Given the description of an element on the screen output the (x, y) to click on. 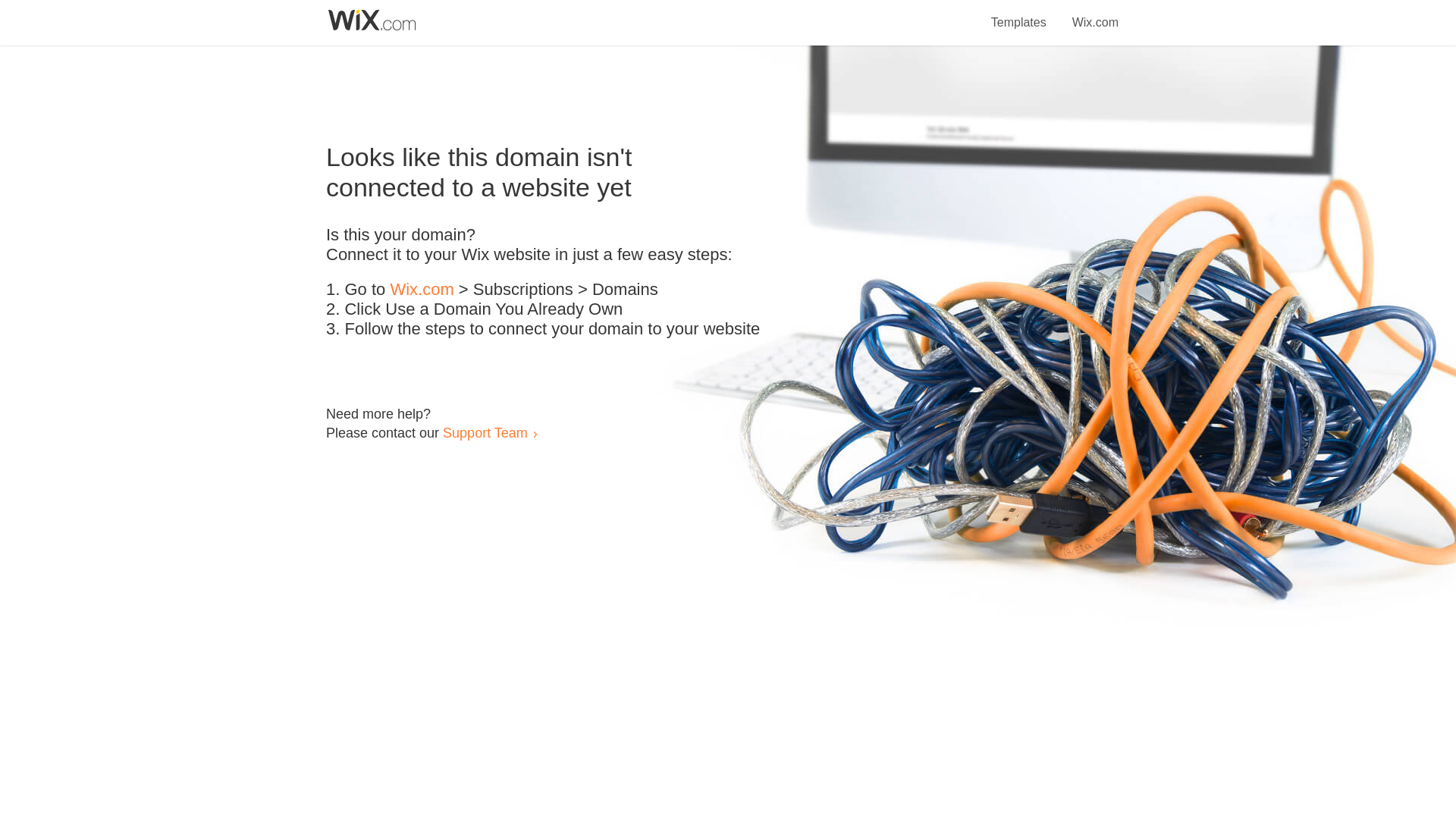
Templates (1018, 14)
Wix.com (421, 289)
Support Team (484, 432)
Wix.com (1095, 14)
